Given the description of an element on the screen output the (x, y) to click on. 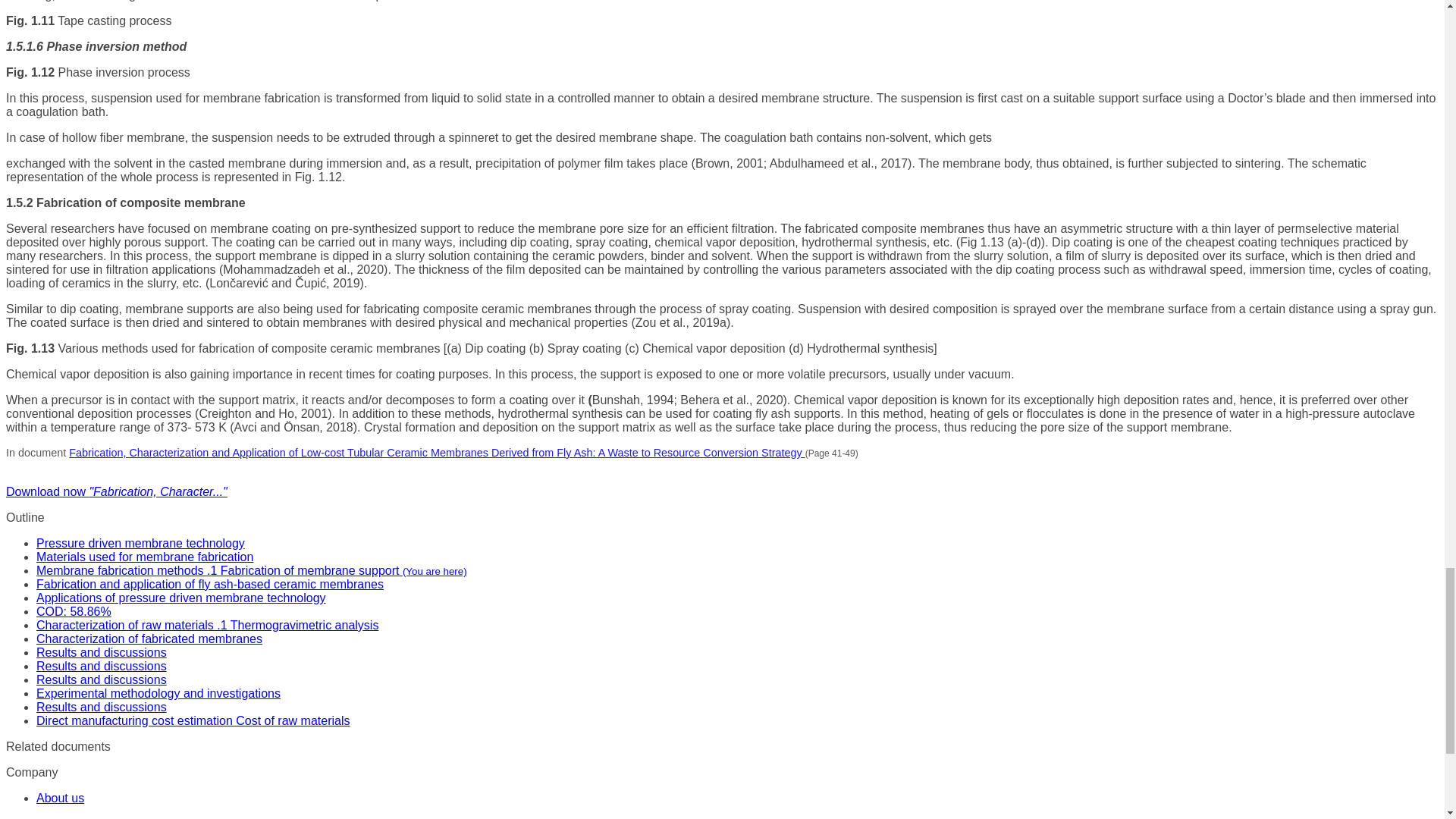
Characterization of fabricated membranes (149, 638)
Pressure driven membrane technology (140, 543)
Download now "Fabrication, Character..." (116, 491)
Experimental methodology and investigations (158, 693)
Direct manufacturing cost estimation Cost of raw materials (192, 720)
Results and discussions (101, 707)
Results and discussions (101, 652)
Applications of pressure driven membrane technology (181, 597)
Results and discussions (101, 679)
Results and discussions (101, 666)
About us (60, 797)
Materials used for membrane fabrication (144, 556)
